Given the description of an element on the screen output the (x, y) to click on. 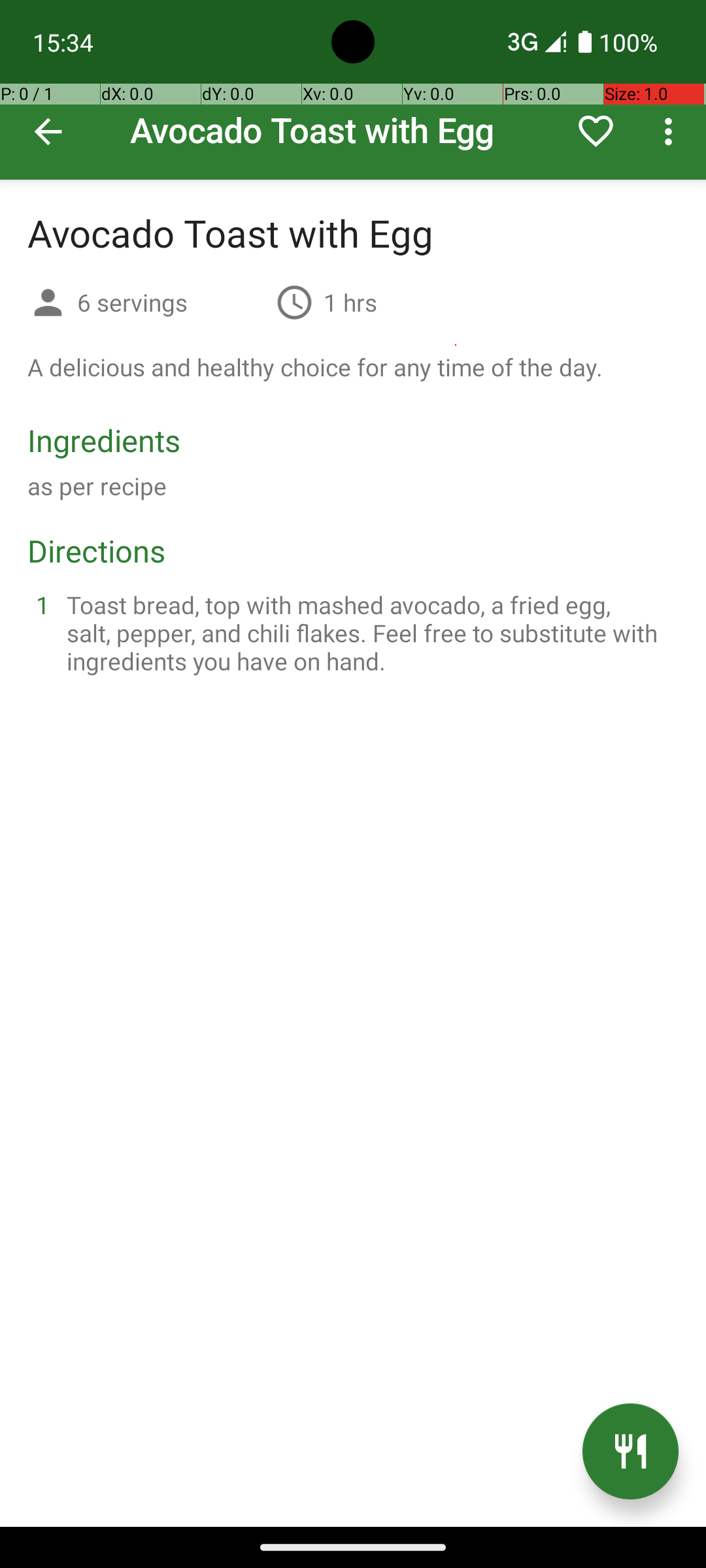
as per recipe Element type: android.widget.TextView (96, 485)
